Given the description of an element on the screen output the (x, y) to click on. 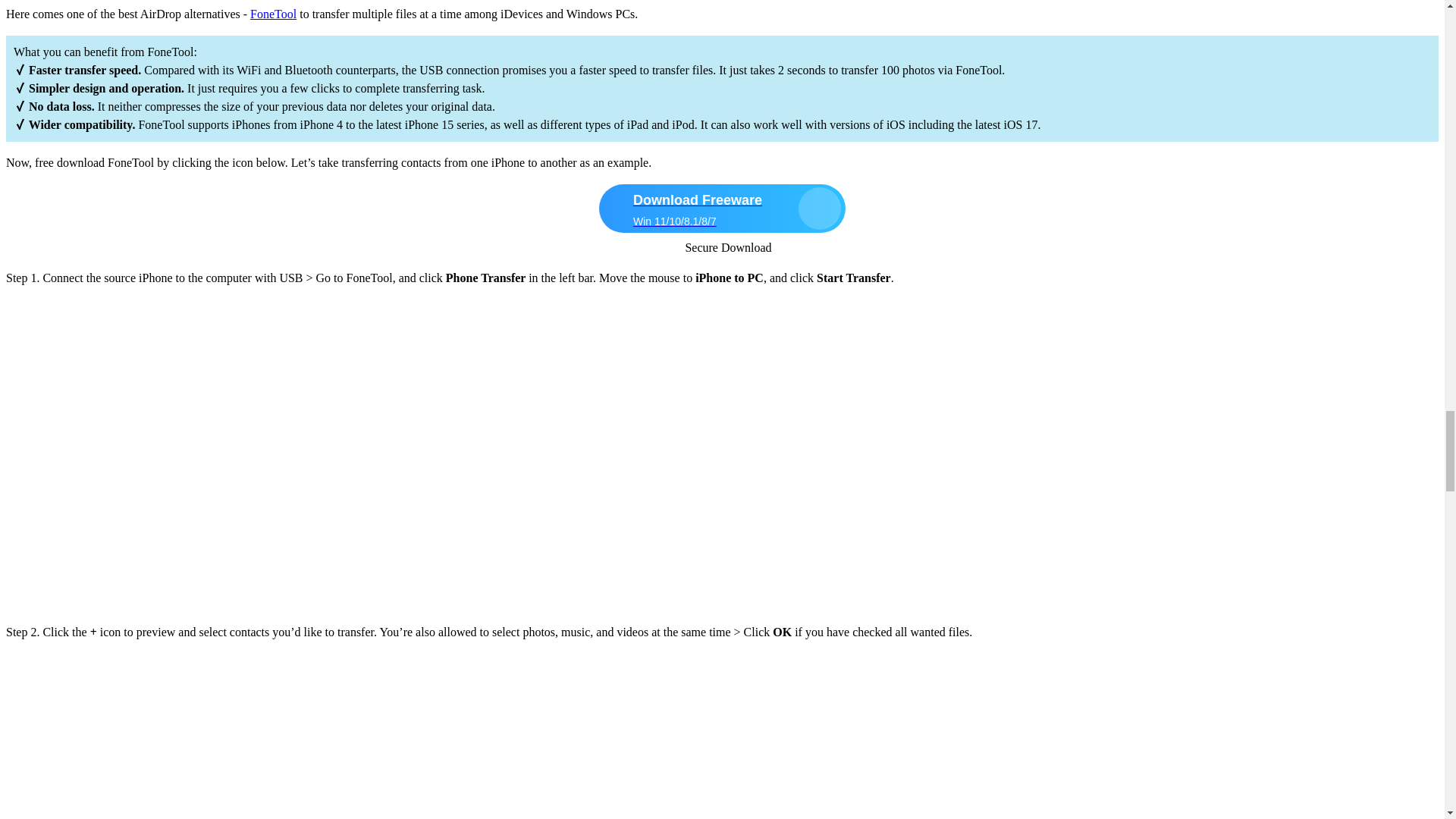
Transfer To Computer (233, 601)
